Given the description of an element on the screen output the (x, y) to click on. 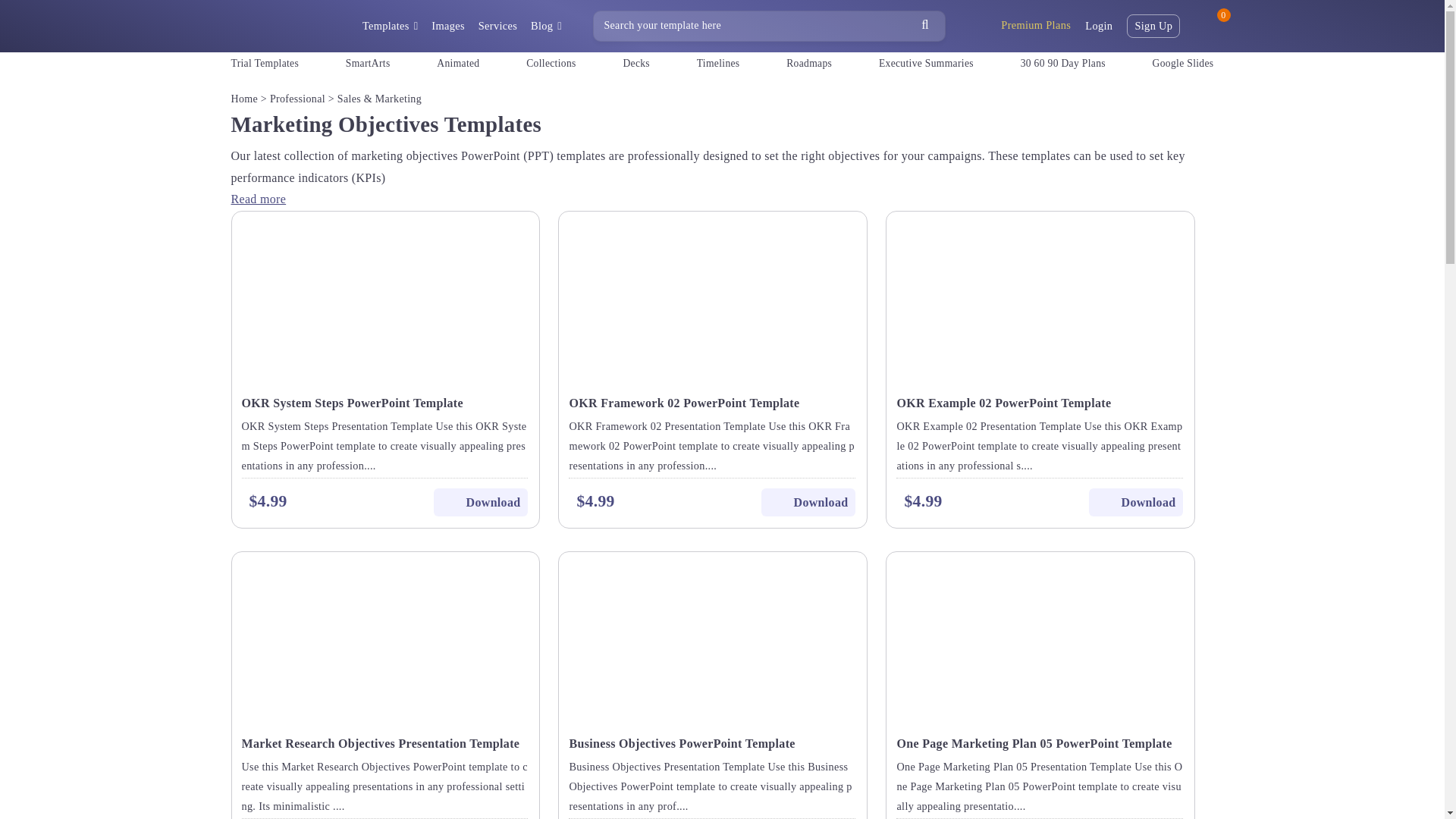
OKR-Framework-02-PowerPoint-Template-217569 (712, 297)
OKR-System-Steps-PowerPoint-Template-207237 (385, 297)
One Page Marketing Plan 05 (1039, 667)
Business-Objectives-PowerPoint-Template-201600 (712, 638)
Market-Research-Objectives-PowerPoint-Template-147481 (385, 638)
OKR-Example-02-PowerPoint-Template-217572 (1039, 297)
Templates (389, 25)
